Given the description of an element on the screen output the (x, y) to click on. 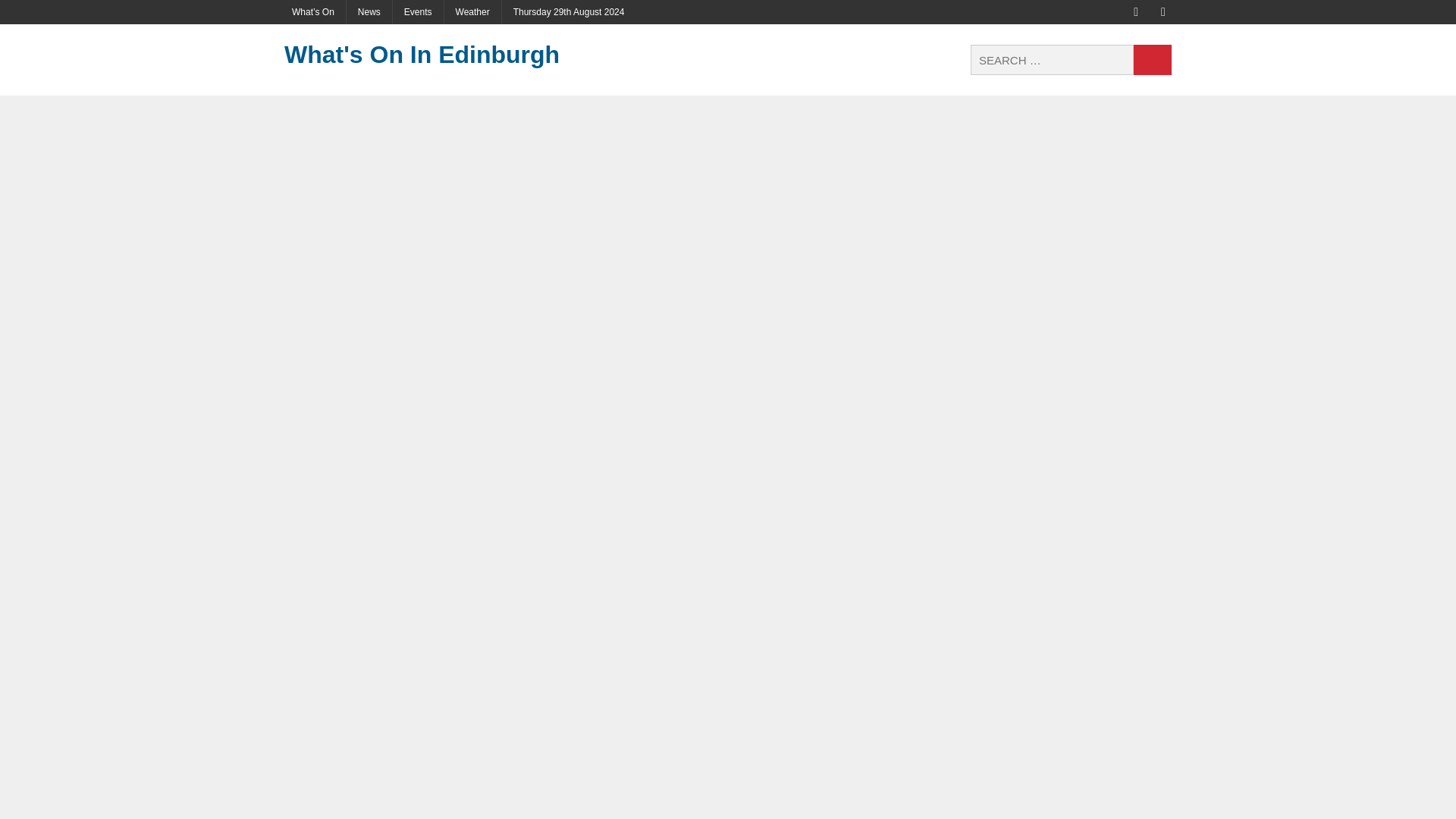
Search (1153, 60)
Events (418, 12)
News (368, 12)
What'S On In Edinburgh (423, 55)
What's On In Edinburgh (423, 55)
Thursday 29th August 2024 (569, 12)
Search (1153, 60)
Weather (472, 12)
Search (1153, 60)
